Given the description of an element on the screen output the (x, y) to click on. 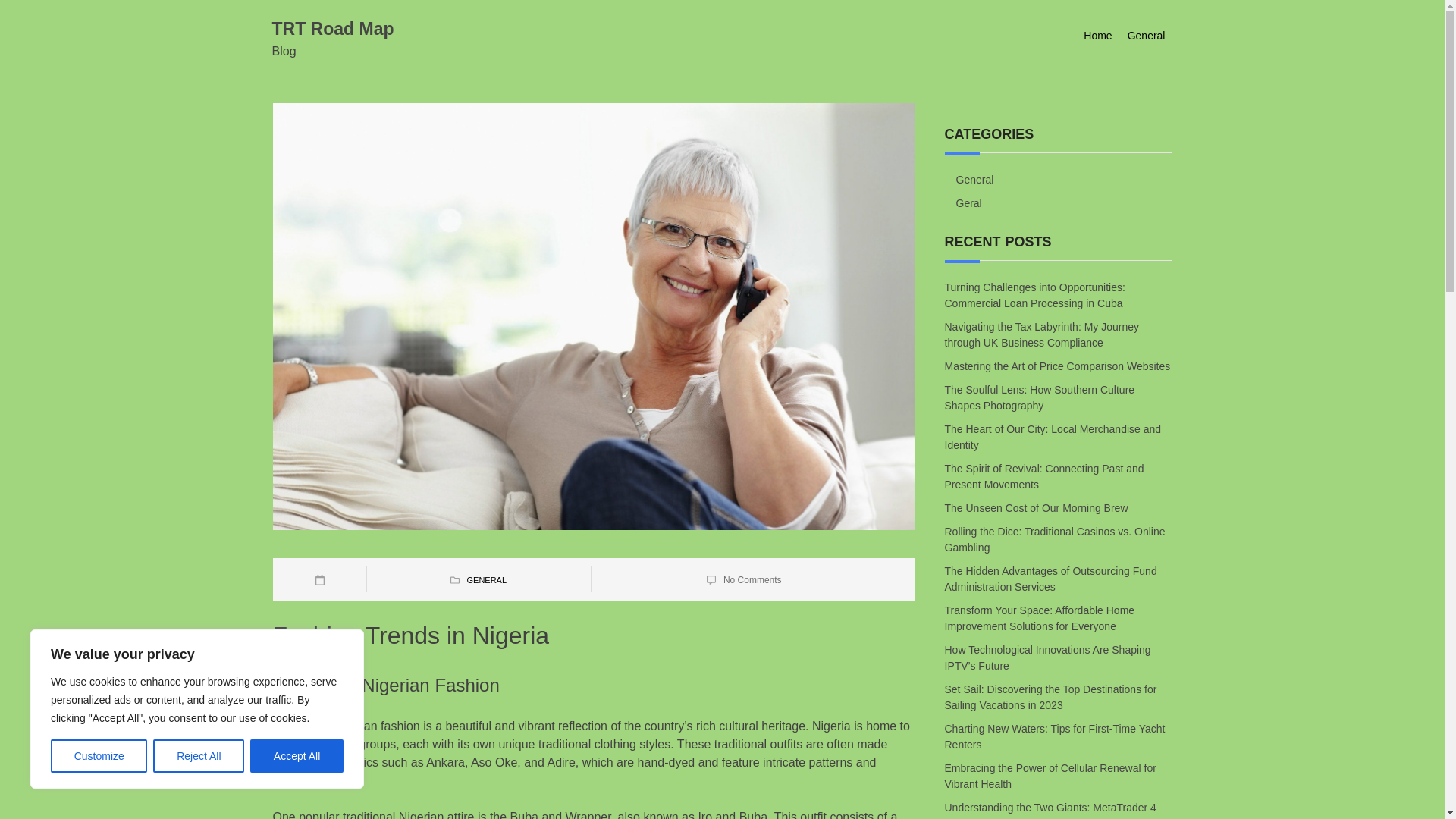
The Unseen Cost of Our Morning Brew (1036, 508)
The Heart of Our City: Local Merchandise and Identity (1052, 437)
Accept All (296, 756)
The Soulful Lens: How Southern Culture Shapes Photography (1039, 398)
Reject All (198, 756)
General (974, 179)
TRT Road Map (331, 28)
The Spirit of Revival: Connecting Past and Present Movements (1044, 476)
